Given the description of an element on the screen output the (x, y) to click on. 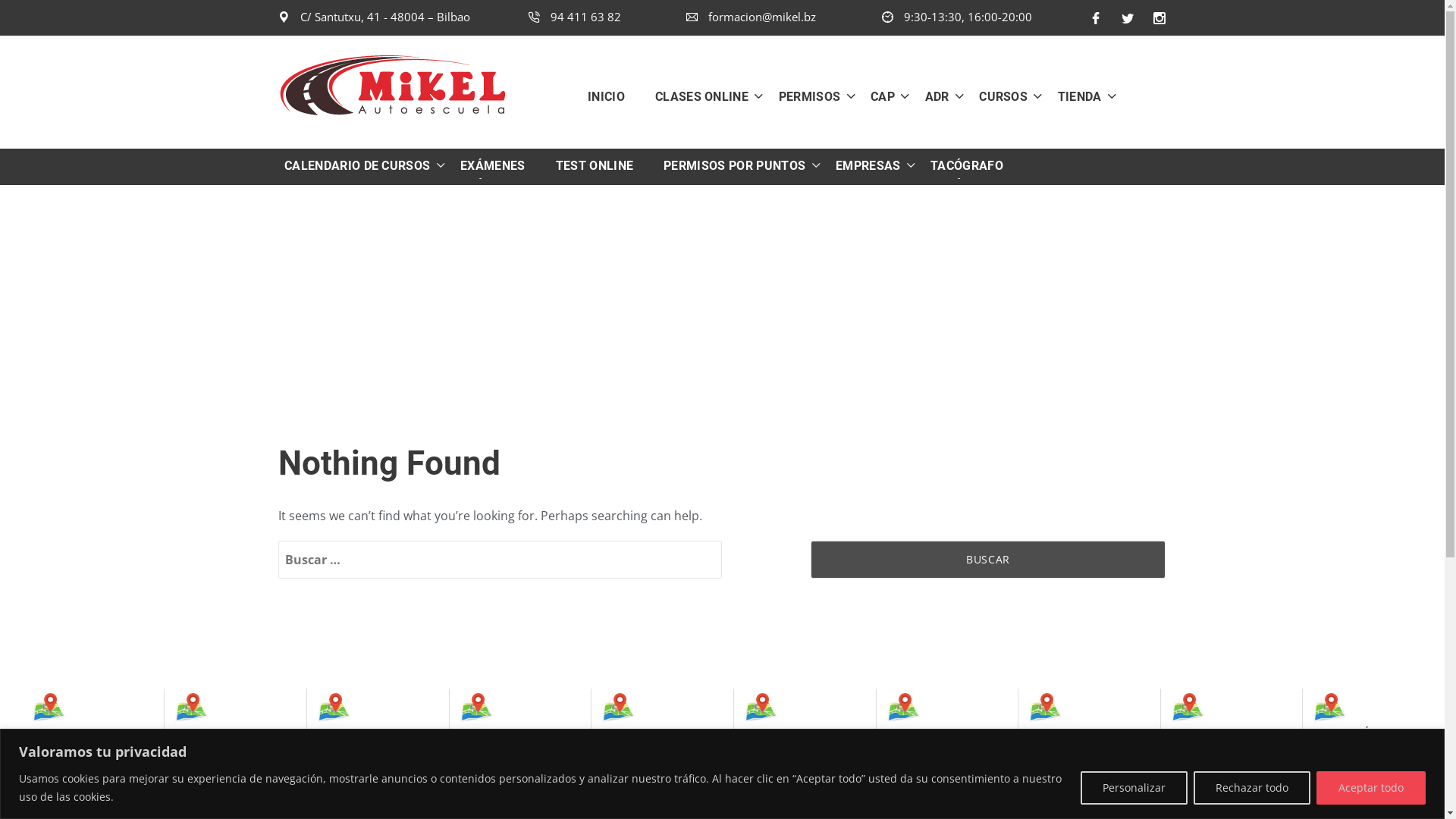
CURSOS Element type: text (996, 96)
CAP Element type: text (876, 96)
DERIO
Mungialde Etorbidea, 4
Derio 48160 Element type: text (1220, 739)
TEST ONLINE Element type: text (594, 165)
ETXEBARRI
Sabino Arana, 8
Etxebarri 48450 Element type: text (651, 733)
Personalizar Element type: text (1133, 786)
KARMELO
Particular de Arsuaga, 1
Bilbao 48004 Element type: text (224, 739)
TXURDINAGA
Txomin Garat, 12
Bilbao 48004 Element type: text (366, 733)
944572275 Element type: text (1061, 796)
ADR Element type: text (931, 96)
EMPRESAS Element type: text (861, 165)
Rechazar todo Element type: text (1251, 786)
946018585 Element type: text (634, 783)
CALENDARIO DE CURSOS Element type: text (358, 165)
944542716 Element type: text (1203, 796)
PERMISOS Element type: text (803, 96)
GALDAKAO
Juan Bautista Uriarte, 4
Galdakao 48960 Element type: text (1078, 739)
formacion@mikel.bz Element type: text (750, 16)
INICIO Element type: text (613, 96)
944110428 Element type: text (207, 796)
Buscar Element type: text (987, 559)
94 411 63 82 Element type: text (573, 16)
944010800 Element type: text (919, 783)
SANTUTXU
Santutxu 41
Bilbao 48004 Element type: text (81, 733)
Aceptar todo Element type: text (1370, 786)
BASAURI
Nagusia, 19
Basauri 48970 Element type: text (793, 733)
BASAURI
Kareaga Goikoa, 42
Basauri 48970 Element type: text (936, 733)
944116382 Element type: text (64, 783)
MIRIBILLA
Jardines de Gernika, 3
Bilbao 48003 Element type: text (509, 739)
TIENDA Element type: text (1073, 96)
CLASES ONLINE Element type: text (695, 96)
944732700 Element type: text (349, 783)
946568989 Element type: text (492, 796)
PERMISOS POR PUNTOS Element type: text (728, 165)
944263434 Element type: text (776, 783)
